Given the description of an element on the screen output the (x, y) to click on. 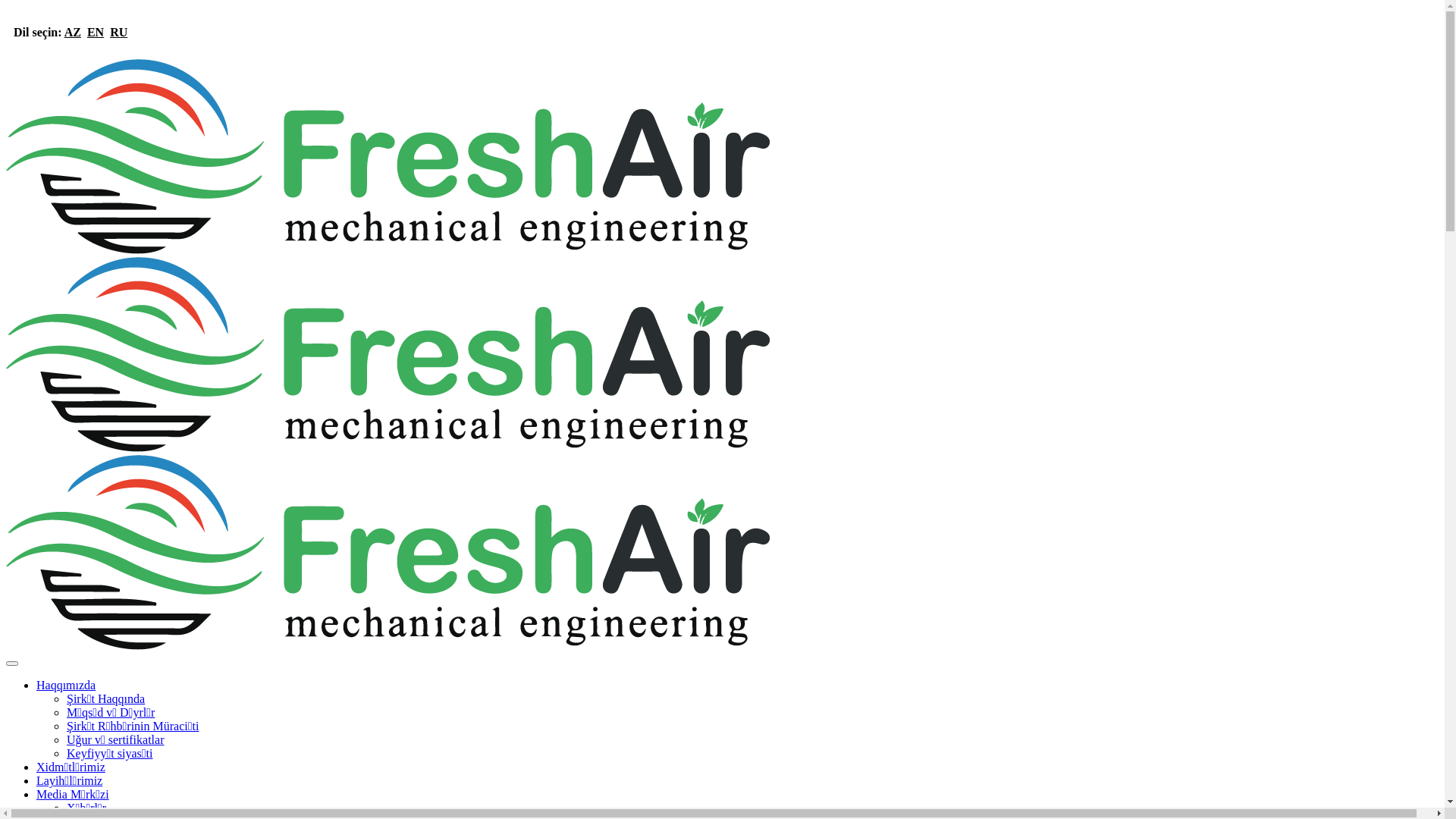
FreshAir Element type: hover (387, 552)
FreshAir Element type: hover (387, 156)
FreshAir Element type: hover (387, 354)
